Given the description of an element on the screen output the (x, y) to click on. 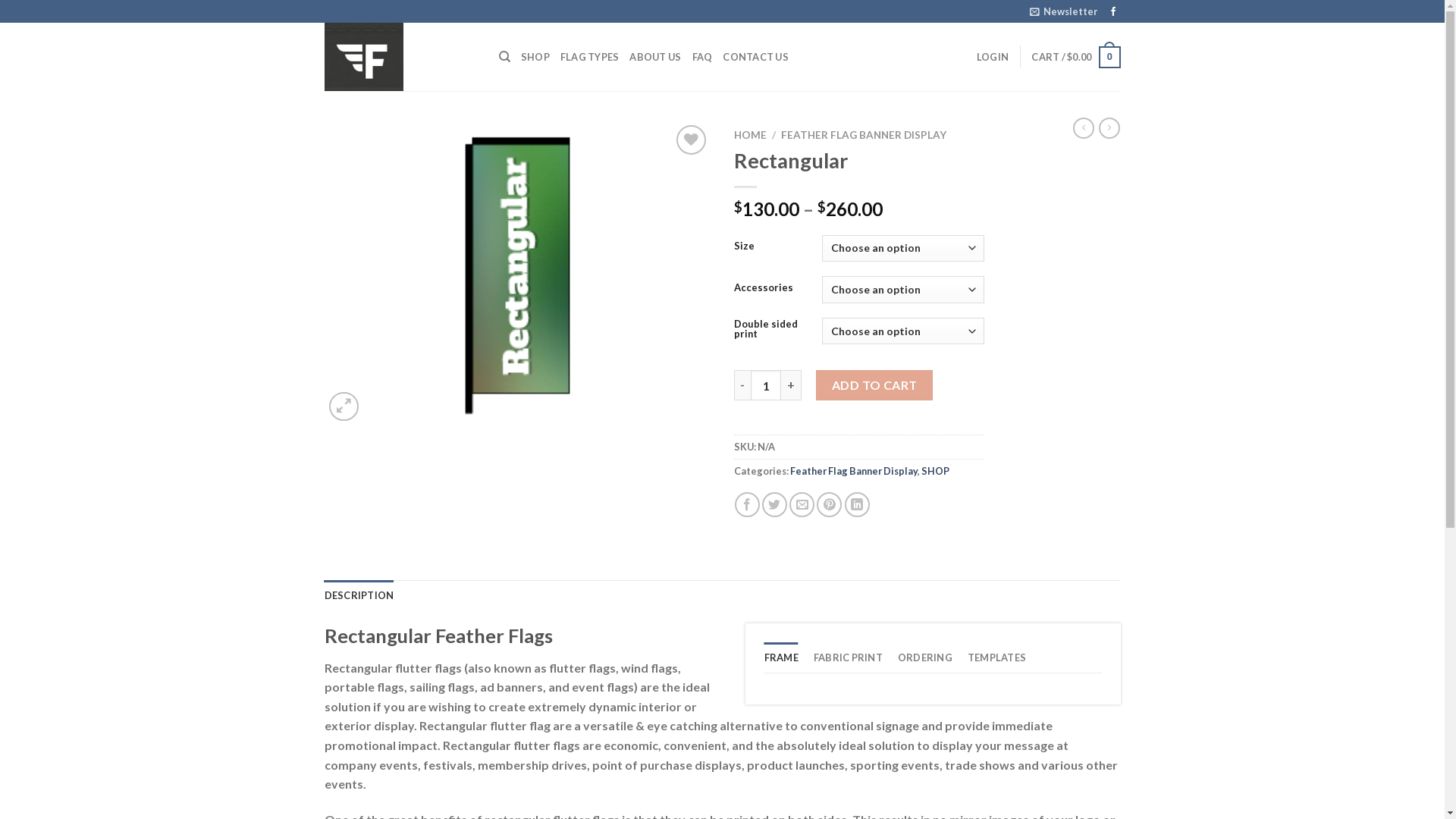
CART / $0.00
0 Element type: text (1075, 57)
SHOP Element type: text (934, 470)
Qty Element type: hover (765, 385)
Feather Flag Banner Display Element type: text (853, 470)
ORDERING Element type: text (924, 657)
TEMPLATES Element type: text (996, 657)
FAQ Element type: text (702, 56)
ABOUT US Element type: text (654, 56)
step1_61 Element type: hover (517, 272)
ADD TO CART Element type: text (873, 385)
Zoom Element type: hover (343, 406)
Newsletter Element type: text (1063, 11)
Feather Flags Online Australia - Feather flags Online Element type: hover (400, 56)
Share on Facebook Element type: hover (746, 504)
Share on Twitter Element type: hover (774, 504)
Follow on Facebook Element type: hover (1112, 11)
Pin on Pinterest Element type: hover (828, 504)
FEATHER FLAG BANNER DISPLAY Element type: text (863, 134)
HOME Element type: text (750, 134)
Email to a Friend Element type: hover (801, 504)
LOGIN Element type: text (992, 56)
Share on LinkedIn Element type: hover (856, 504)
FLAG TYPES Element type: text (589, 56)
SHOP Element type: text (534, 56)
FABRIC PRINT Element type: text (847, 657)
FRAME Element type: text (781, 657)
CONTACT US Element type: text (755, 56)
DESCRIPTION Element type: text (359, 595)
